Given the description of an element on the screen output the (x, y) to click on. 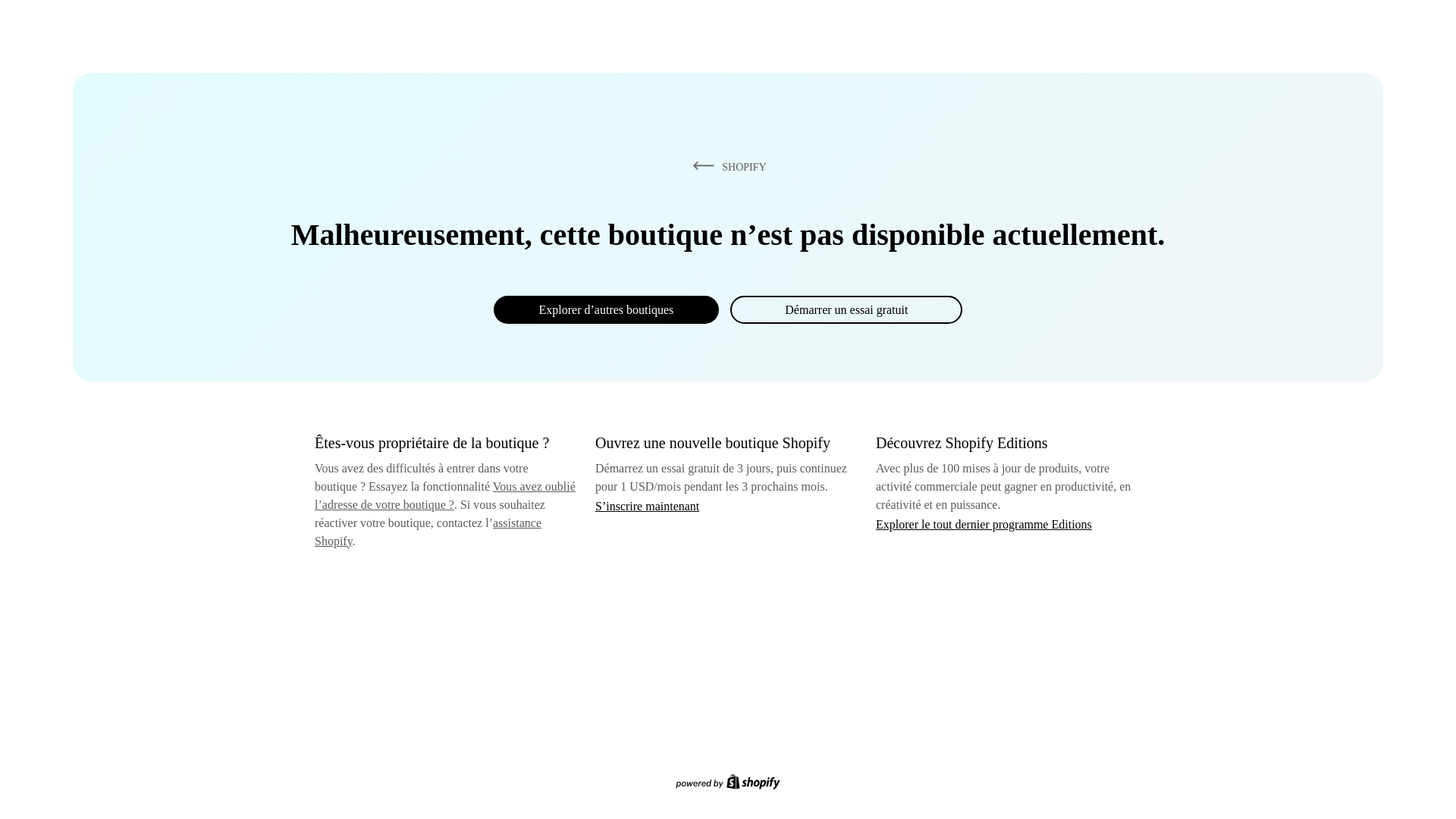
assistance Shopify (427, 531)
Explorer le tout dernier programme Editions (984, 523)
SHOPIFY (726, 166)
